Given the description of an element on the screen output the (x, y) to click on. 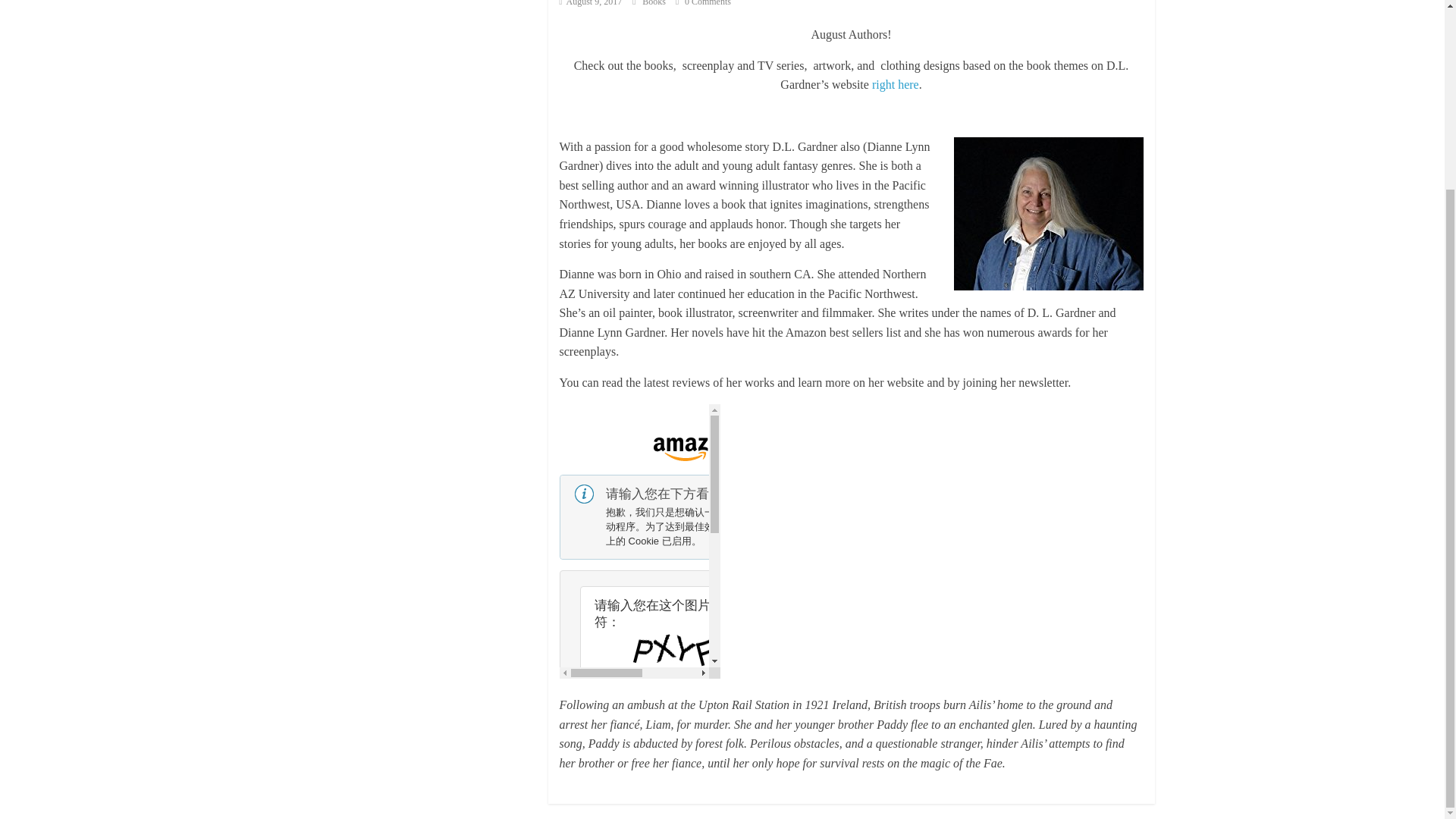
Books (655, 3)
August 9, 2017 (591, 3)
Books (655, 3)
3:15 pm (591, 3)
right here (895, 83)
0 Comments (702, 3)
